Given the description of an element on the screen output the (x, y) to click on. 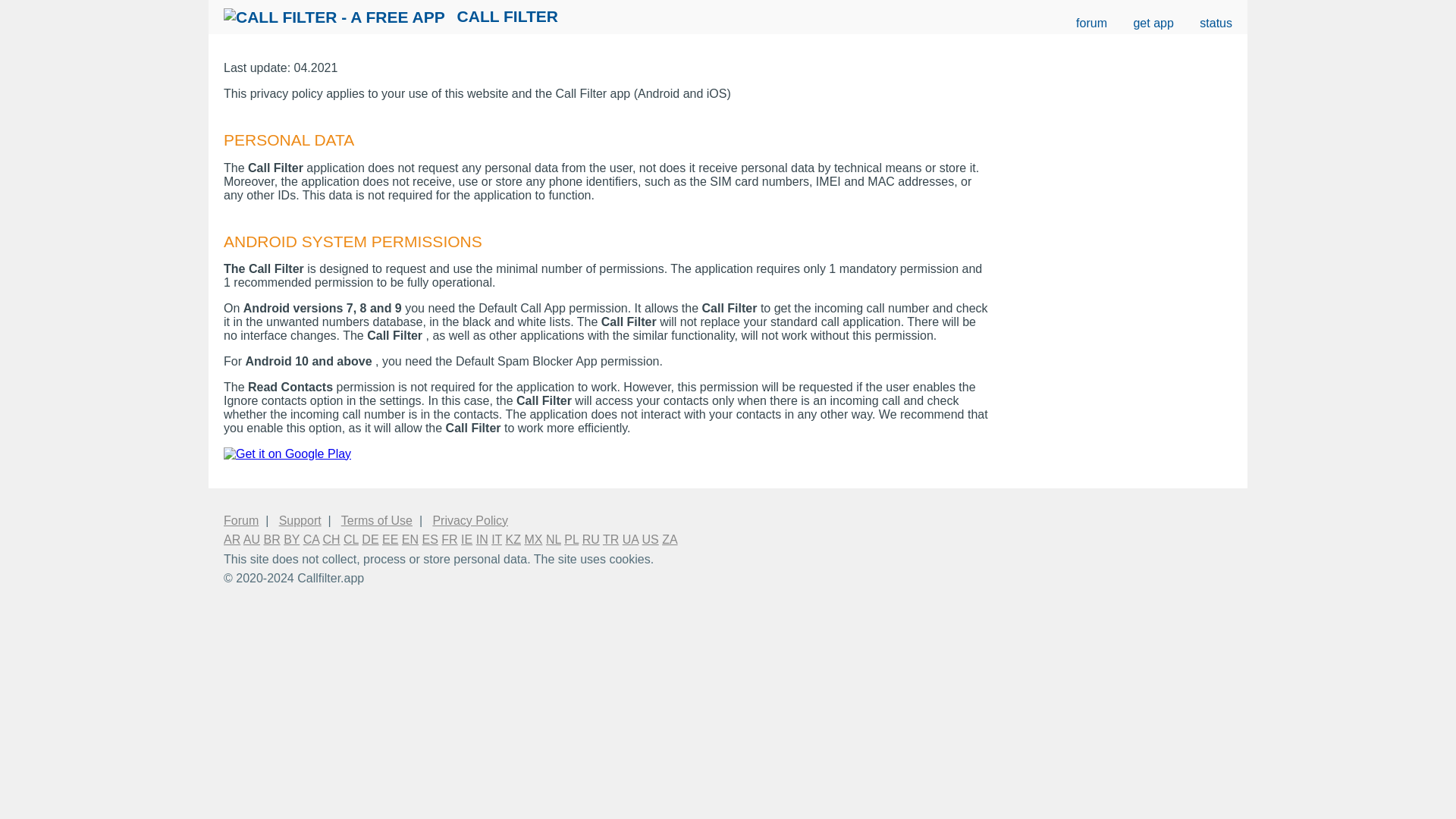
EE (389, 539)
AU (251, 539)
KZ (513, 539)
get app (1152, 23)
EN (410, 539)
ZA (669, 539)
TR (610, 539)
Terms of Use (376, 520)
forum (1091, 23)
UA (631, 539)
